Given the description of an element on the screen output the (x, y) to click on. 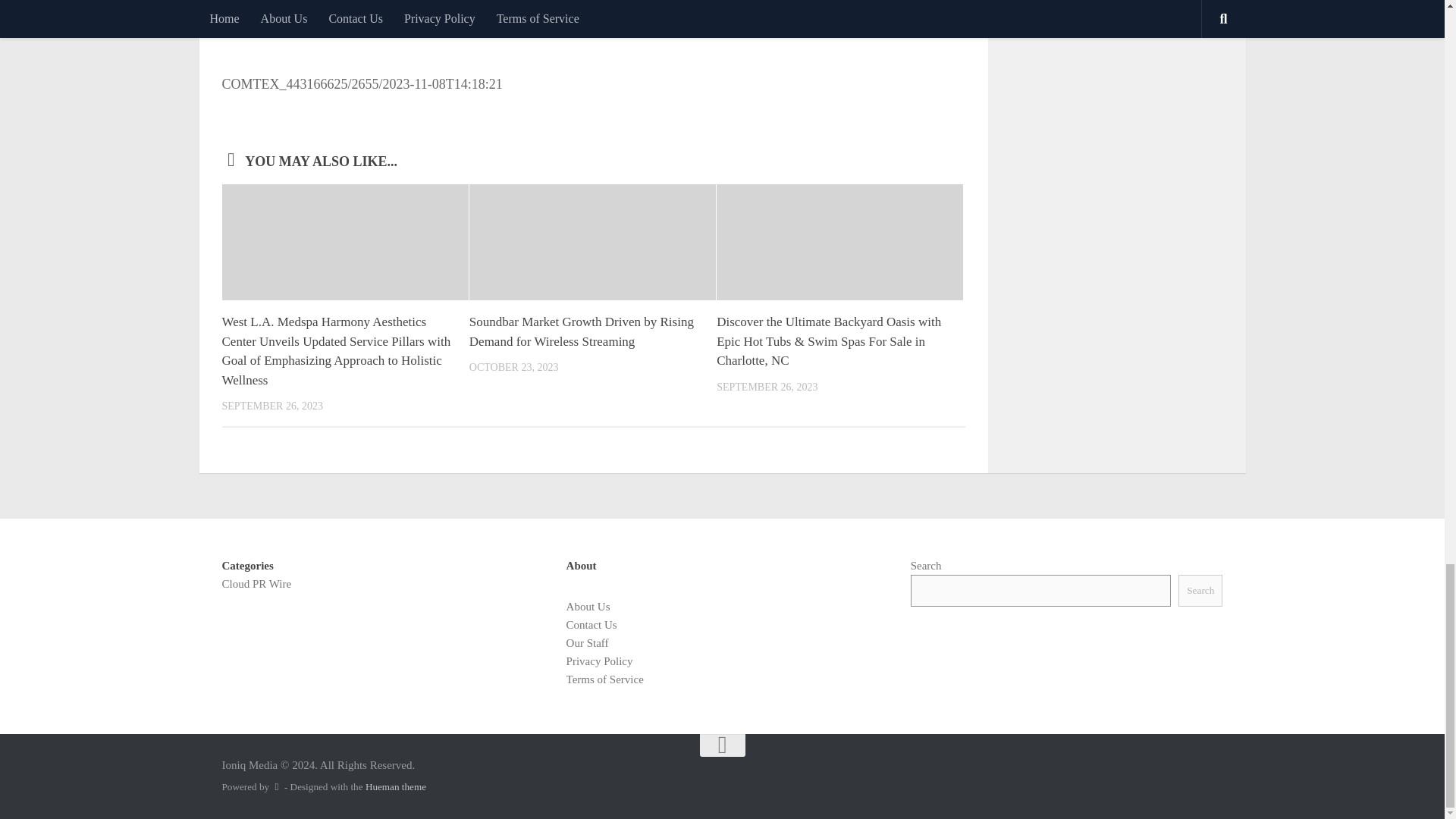
Hueman theme (395, 786)
Powered by WordPress (275, 786)
